Given the description of an element on the screen output the (x, y) to click on. 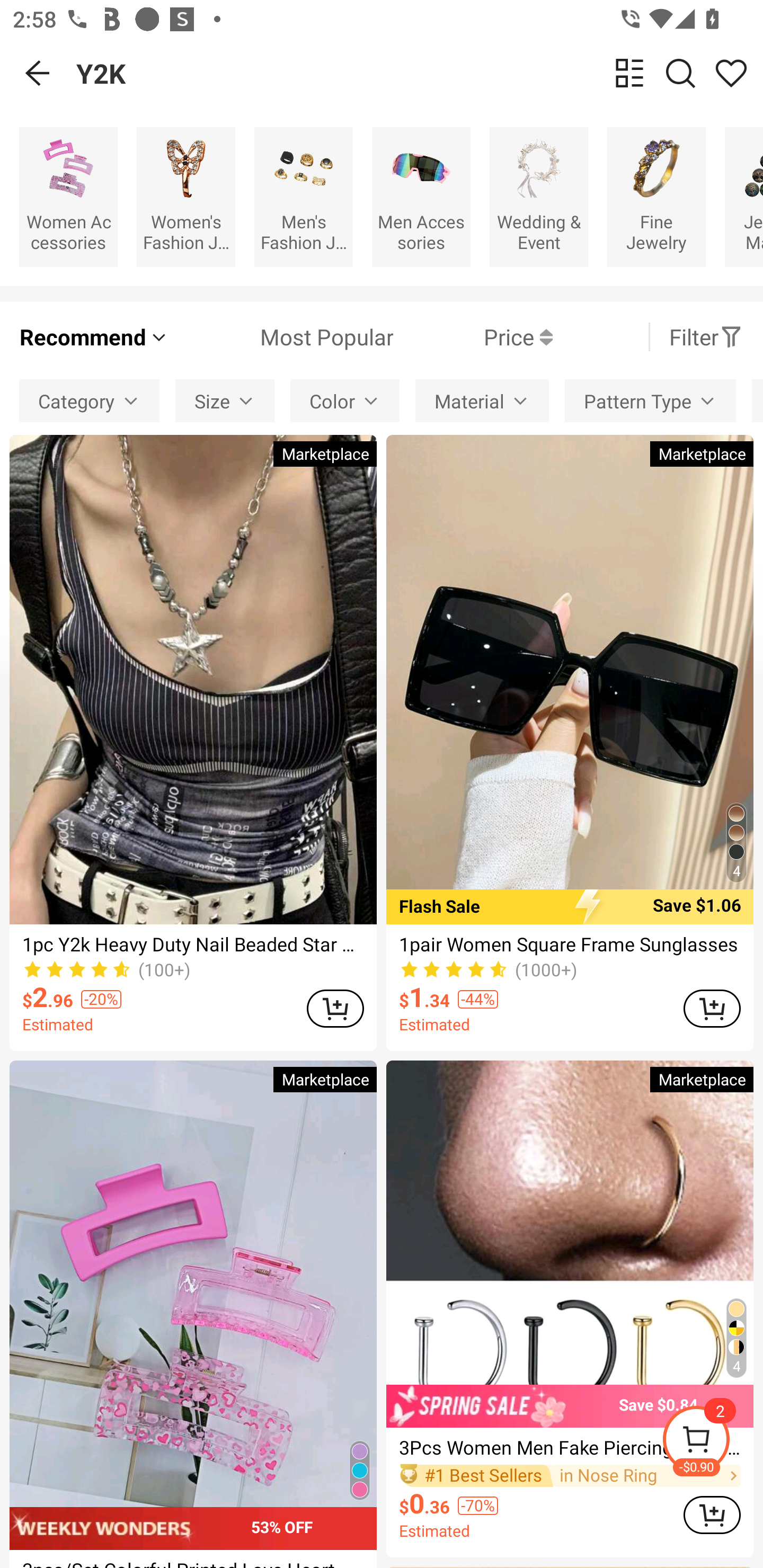
Y2K change view Search Share (419, 72)
change view (629, 72)
Search (679, 72)
Share (730, 72)
Women Accessories (68, 196)
Women's Fashion Jewelry (185, 196)
Men's Fashion Jewelry (303, 196)
Men Accessories (421, 196)
Wedding & Event (538, 196)
Fine Jewelry (656, 196)
Recommend (94, 336)
Most Popular (280, 336)
Price (472, 336)
Filter (705, 336)
Category (89, 400)
Size (224, 400)
Color (344, 400)
Material (481, 400)
Pattern Type (650, 400)
ADD TO CART (334, 1008)
ADD TO CART (711, 1008)
-$0.90 (712, 1441)
#1 Best Sellers in Nose Ring (569, 1475)
ADD TO CART (711, 1514)
